Given the description of an element on the screen output the (x, y) to click on. 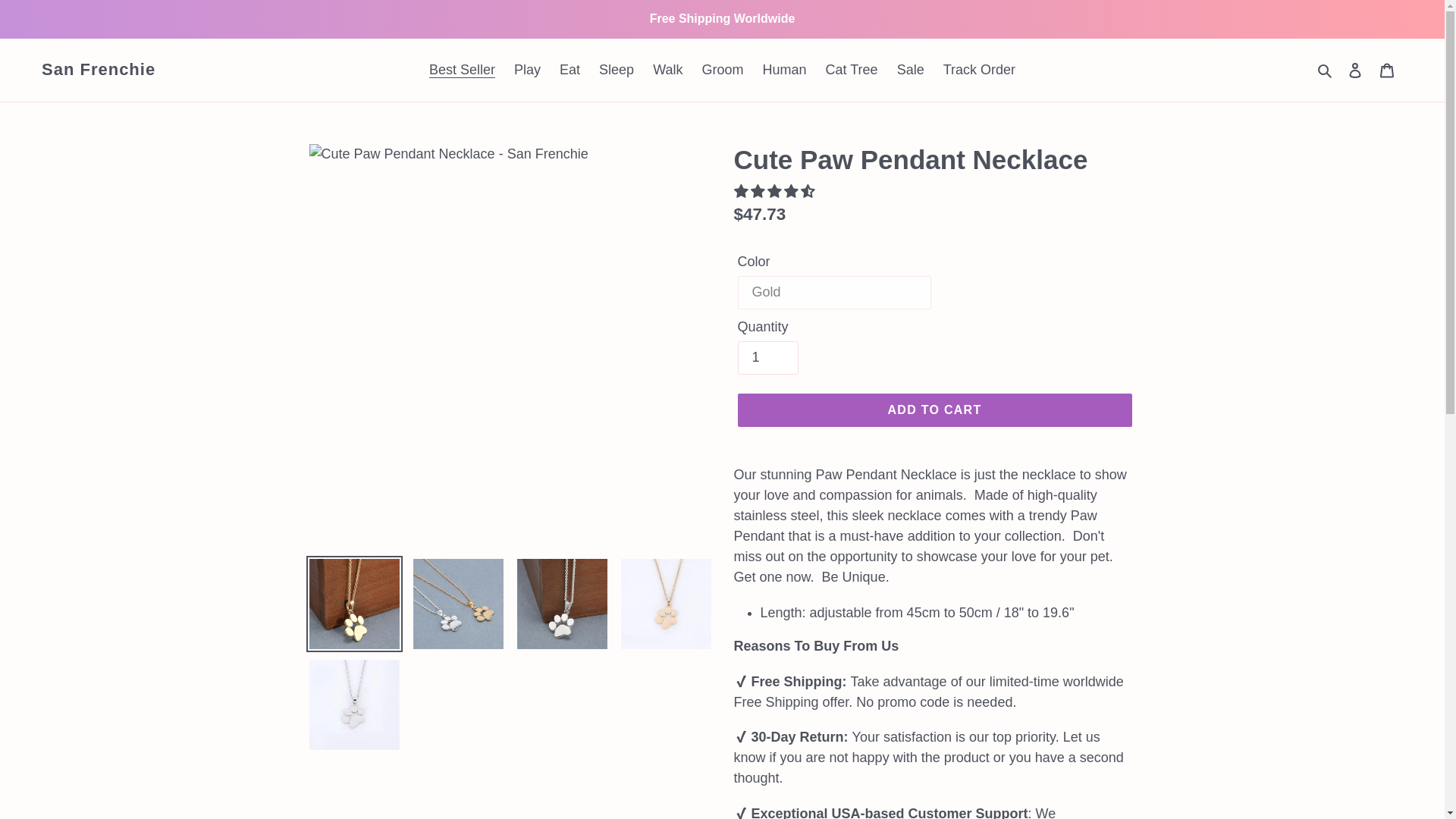
1 (766, 357)
Cat Tree (851, 69)
Cart (1387, 69)
San Frenchie (98, 69)
Log in (1355, 69)
ADD TO CART (933, 409)
Track Order (979, 69)
Eat (569, 69)
Free Shipping Worldwide (721, 18)
Human (784, 69)
Groom (722, 69)
Play (527, 69)
Search (1326, 69)
Best Seller (462, 69)
Walk (667, 69)
